Given the description of an element on the screen output the (x, y) to click on. 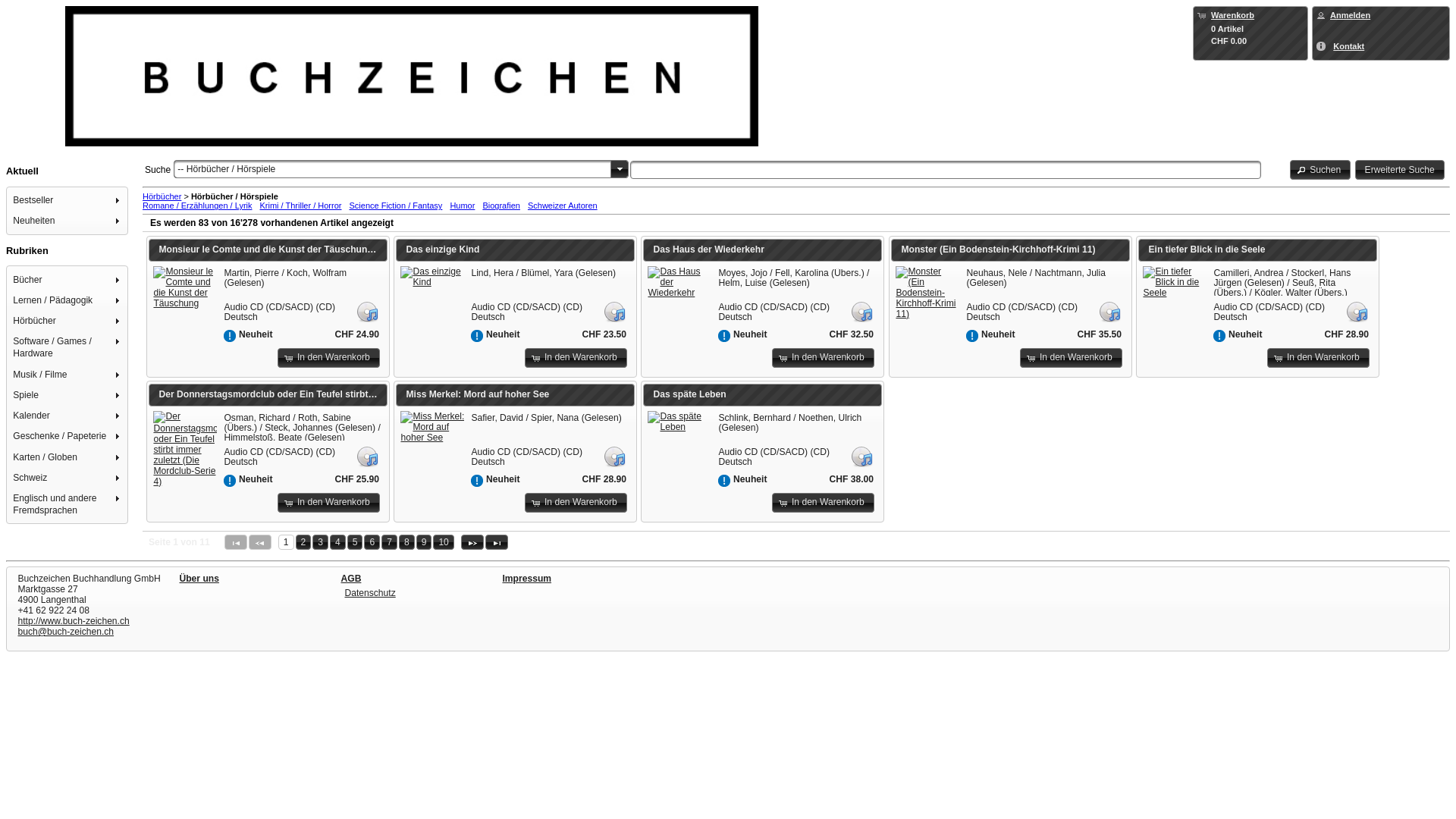
In den Warenkorb Element type: text (575, 357)
Schweizer Autoren Element type: text (562, 205)
In den Warenkorb Element type: text (575, 502)
Englisch und andere Fremdsprachen Element type: text (67, 504)
In den Warenkorb Element type: text (822, 502)
Karten / Globen Element type: text (67, 456)
buch@buch-zeichen.ch Element type: text (66, 631)
Artikel anzeigen Element type: hover (184, 287)
Humor Element type: text (461, 205)
Spiele Element type: text (67, 394)
Audio CD Element type: hover (614, 455)
Audio CD Element type: hover (861, 310)
Warenkorb
0 Artikel
CHF 0.00 Element type: text (1250, 26)
Artikel anzeigen Element type: hover (927, 292)
Science Fiction / Fantasy Element type: text (395, 205)
Audio CD Element type: hover (614, 310)
In den Warenkorb Element type: text (328, 502)
In den Warenkorb Element type: text (1070, 357)
Artikel anzeigen Element type: hover (679, 282)
Software / Games / Hardware Element type: text (67, 347)
Geschenke / Papeterie Element type: text (67, 435)
AGB Element type: text (351, 578)
Krimi / Thriller / Horror Element type: text (300, 205)
Neuheiten Element type: text (67, 220)
Impressum Element type: text (526, 578)
In den Warenkorb Element type: text (822, 357)
Schweiz Element type: text (67, 476)
Audio CD Element type: hover (366, 310)
Kalender Element type: text (67, 415)
Erweiterte Suche Element type: text (1399, 169)
In den Warenkorb Element type: text (1318, 357)
Audio CD Element type: hover (1356, 310)
Kontakt Element type: text (1348, 45)
Artikel anzeigen Element type: hover (184, 448)
Audio CD Element type: hover (1109, 310)
Artikel anzeigen Element type: hover (1174, 282)
Anmelden Element type: text (1350, 14)
Biografien Element type: text (501, 205)
Artikel anzeigen Element type: hover (432, 426)
Datenschutz Element type: text (369, 592)
Artikel anzeigen Element type: hover (679, 421)
Audio CD Element type: hover (366, 455)
Artikel anzeigen Element type: hover (432, 276)
Suchen Element type: text (1320, 169)
Bestseller Element type: text (67, 200)
Audio CD Element type: hover (861, 455)
http://www.buch-zeichen.ch Element type: text (73, 620)
In den Warenkorb Element type: text (328, 357)
Musik / Filme Element type: text (67, 373)
